Given the description of an element on the screen output the (x, y) to click on. 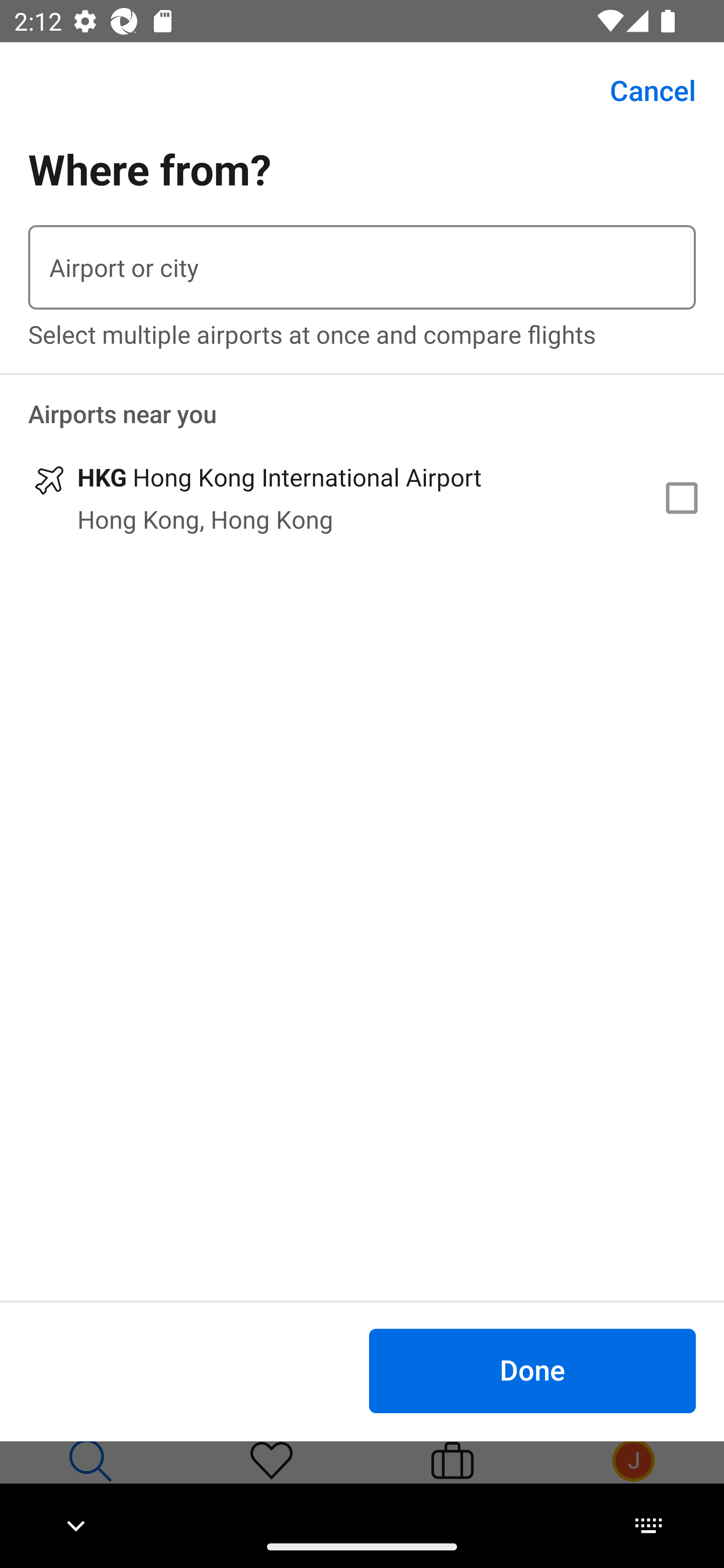
Cancel (641, 90)
Airport or city (361, 266)
Done (532, 1370)
